Given the description of an element on the screen output the (x, y) to click on. 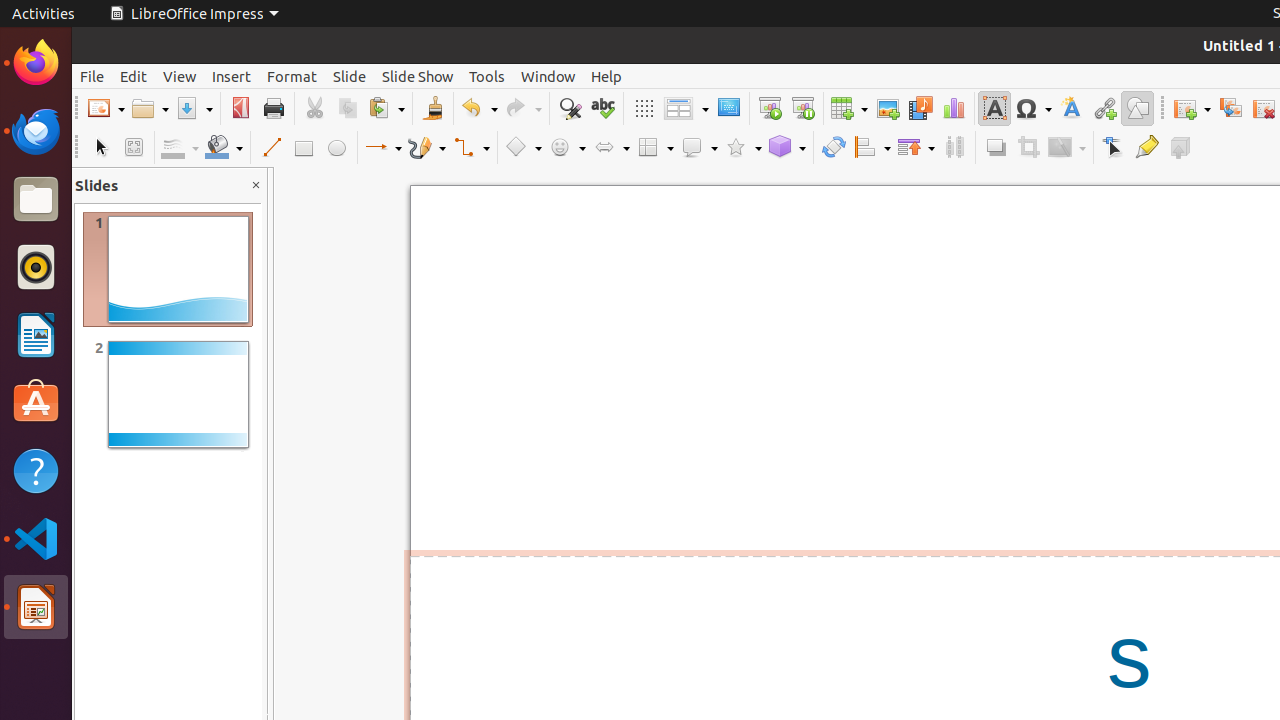
Flowchart Shapes Element type: push-button (655, 147)
Rectangle Element type: push-button (303, 147)
Callout Shapes Element type: push-button (699, 147)
Media Element type: push-button (920, 108)
Find & Replace Element type: toggle-button (569, 108)
